Given the description of an element on the screen output the (x, y) to click on. 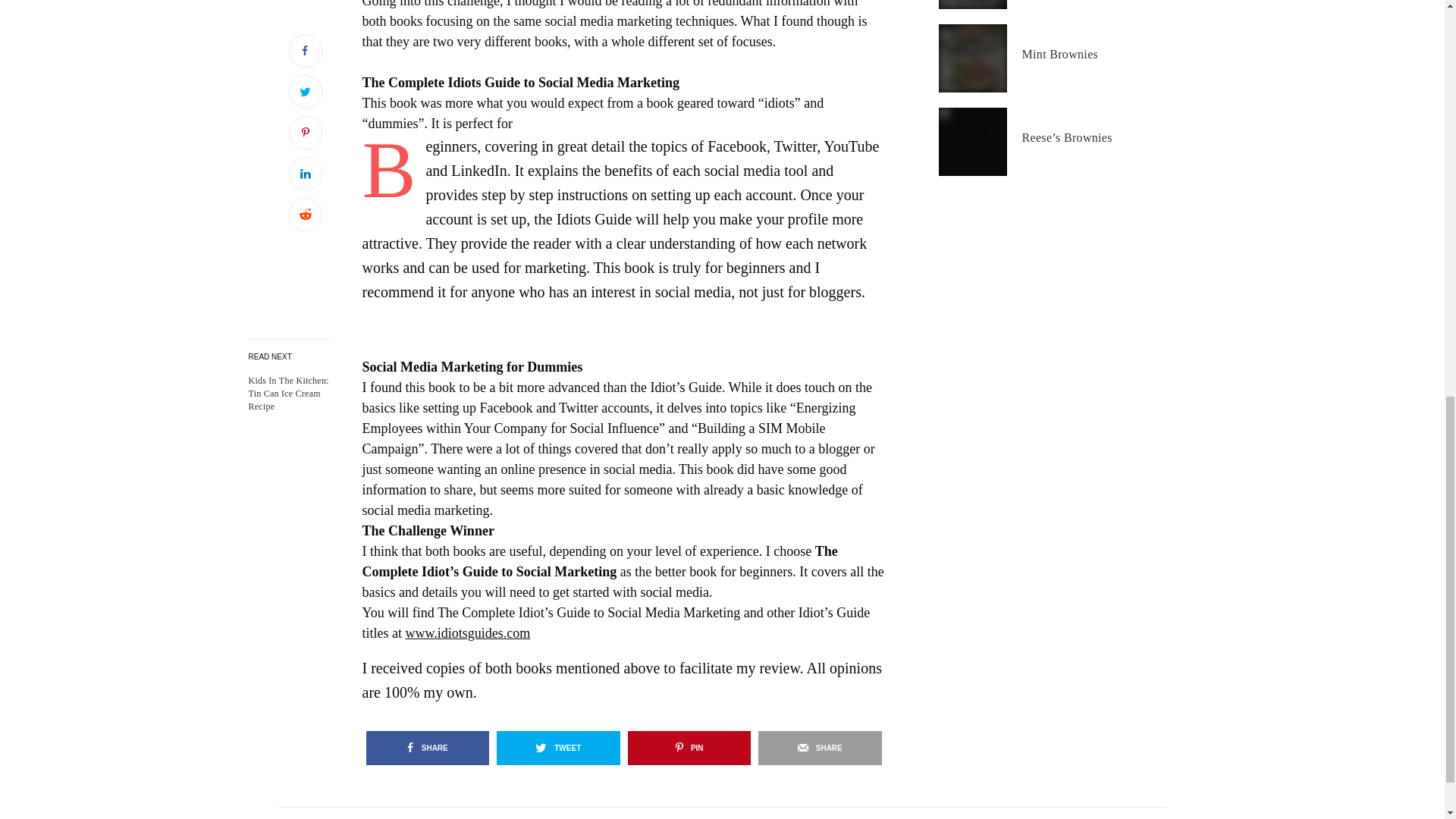
www.idiotsguides.com (466, 632)
PIN (689, 747)
SHARE (820, 747)
The Idiots vs. The Dummies Challenge: Social Media Marketing (289, 393)
Mint Brownies (1060, 54)
TWEET (558, 747)
Kids In The Kitchen: Tin Can Ice Cream Recipe (289, 393)
Mint Brownies (1060, 54)
SHARE (427, 747)
